Given the description of an element on the screen output the (x, y) to click on. 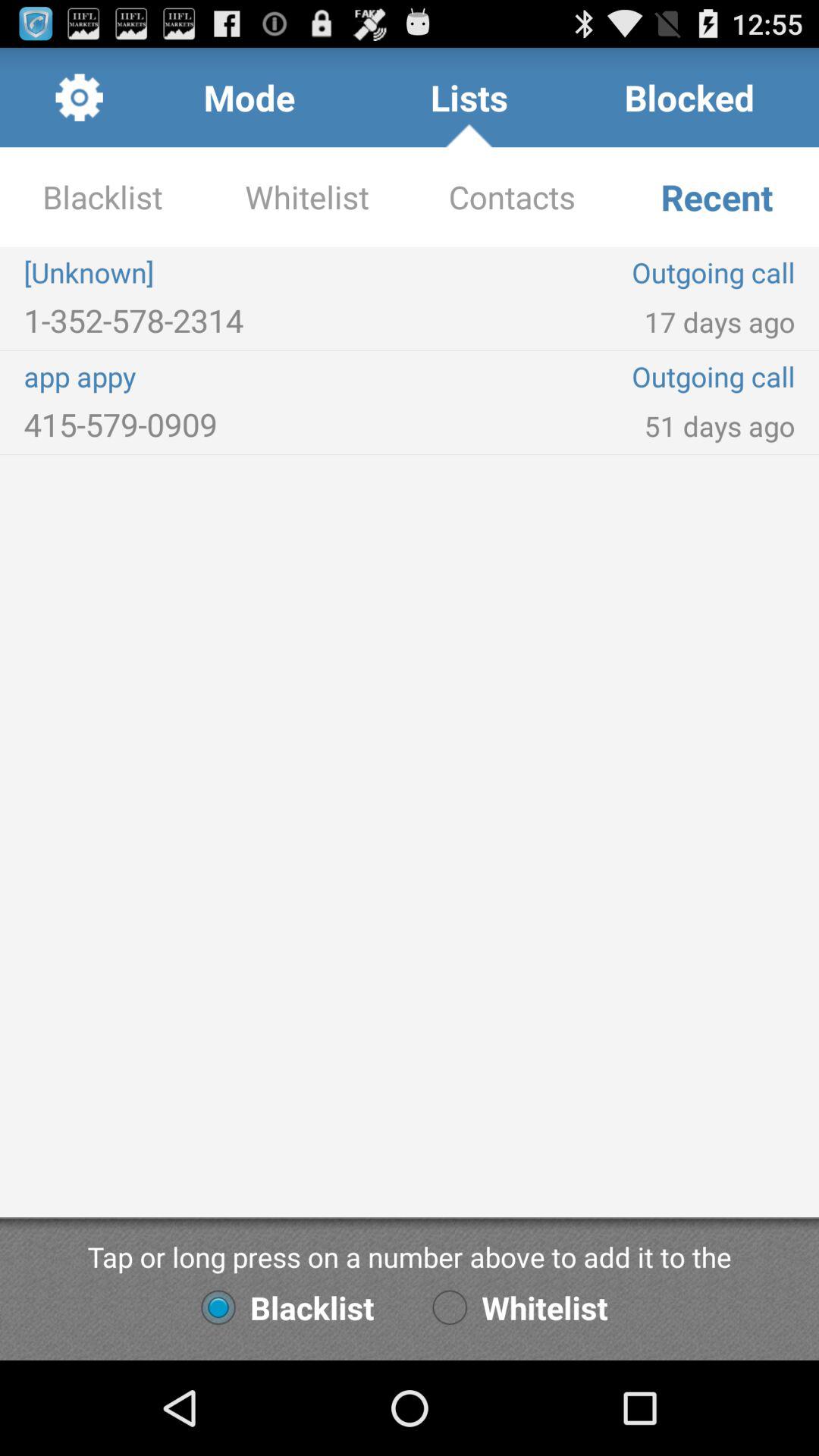
turn on the icon next to mode app (79, 97)
